Given the description of an element on the screen output the (x, y) to click on. 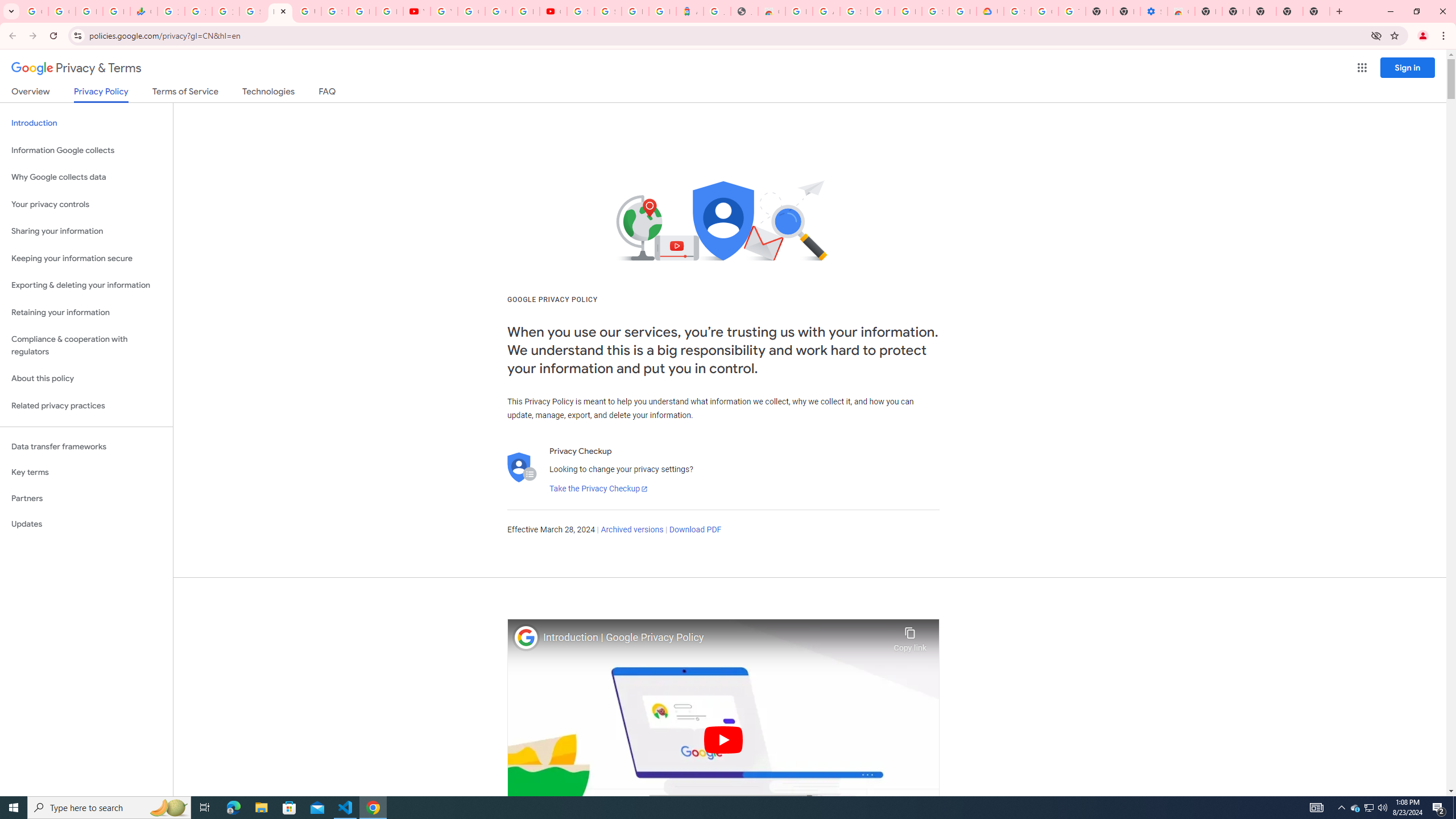
Sign in - Google Accounts (935, 11)
Google Account Help (1044, 11)
Turn cookies on or off - Computer - Google Account Help (1071, 11)
YouTube (444, 11)
